Given the description of an element on the screen output the (x, y) to click on. 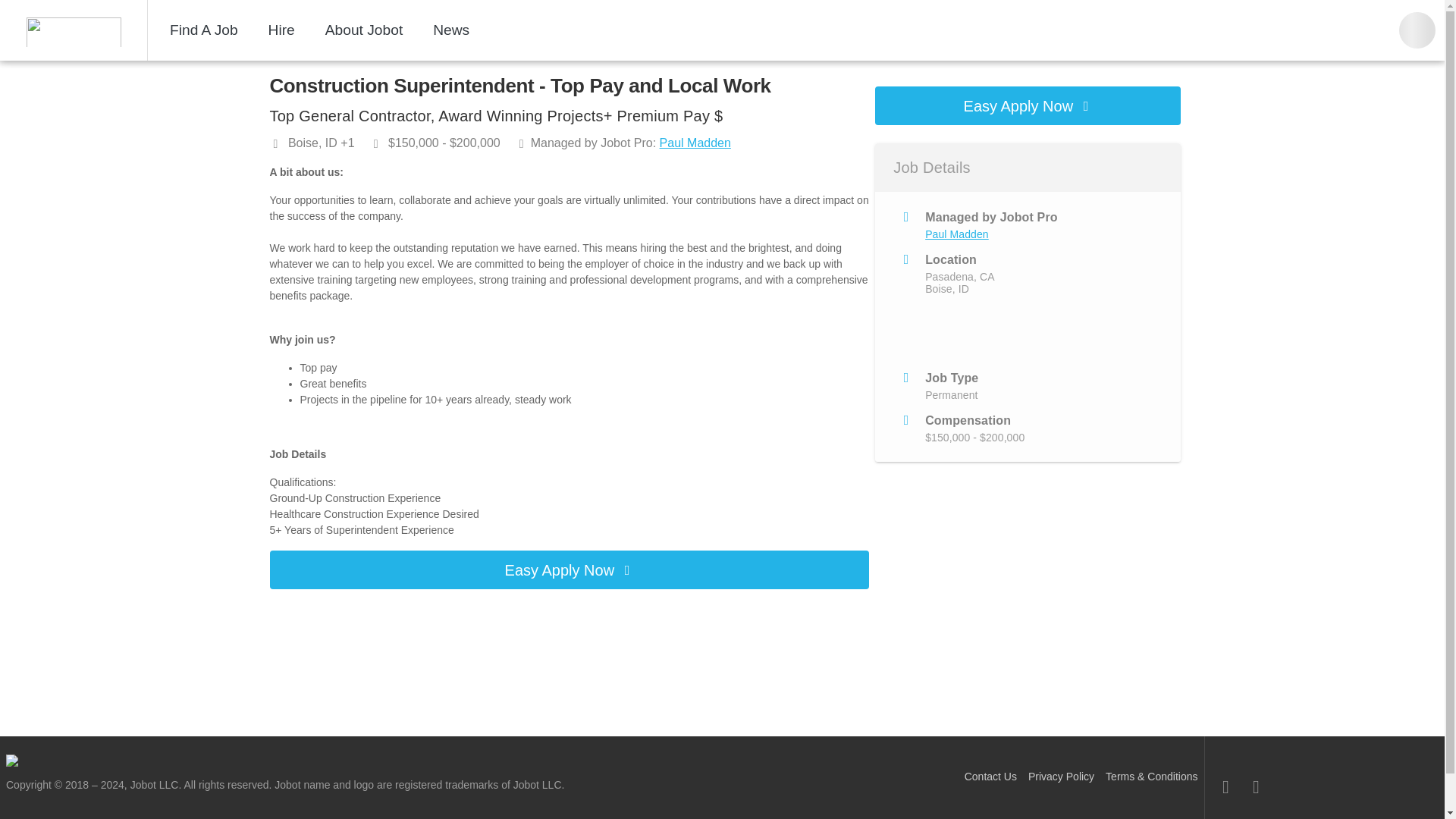
Paul Madden (956, 234)
Easy Apply Now (569, 569)
Contact Us (989, 776)
Privacy Policy (1060, 776)
Hire (281, 29)
Easy Apply Now (1027, 105)
Paul Madden (694, 142)
News (450, 29)
About Jobot (363, 29)
Find A Job (203, 29)
